Given the description of an element on the screen output the (x, y) to click on. 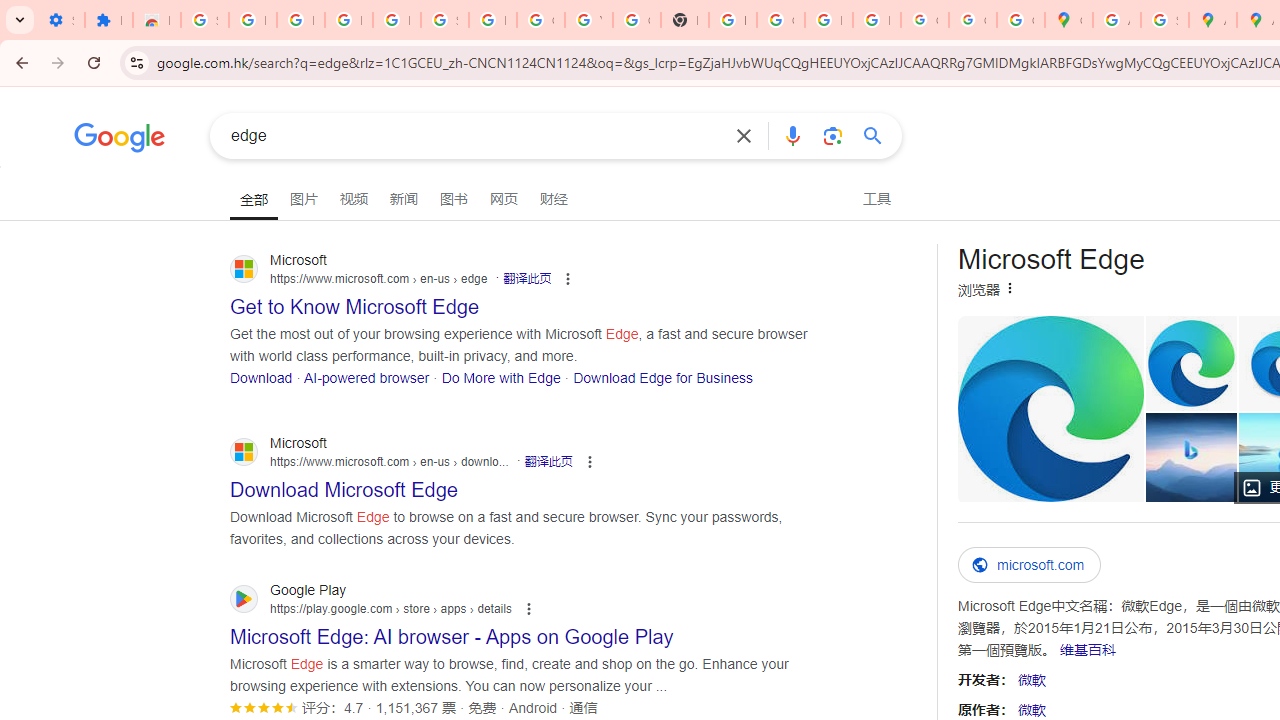
Microsoft Edge help & learning (1191, 457)
Settings - On startup (60, 20)
Do More with Edge (500, 376)
